Given the description of an element on the screen output the (x, y) to click on. 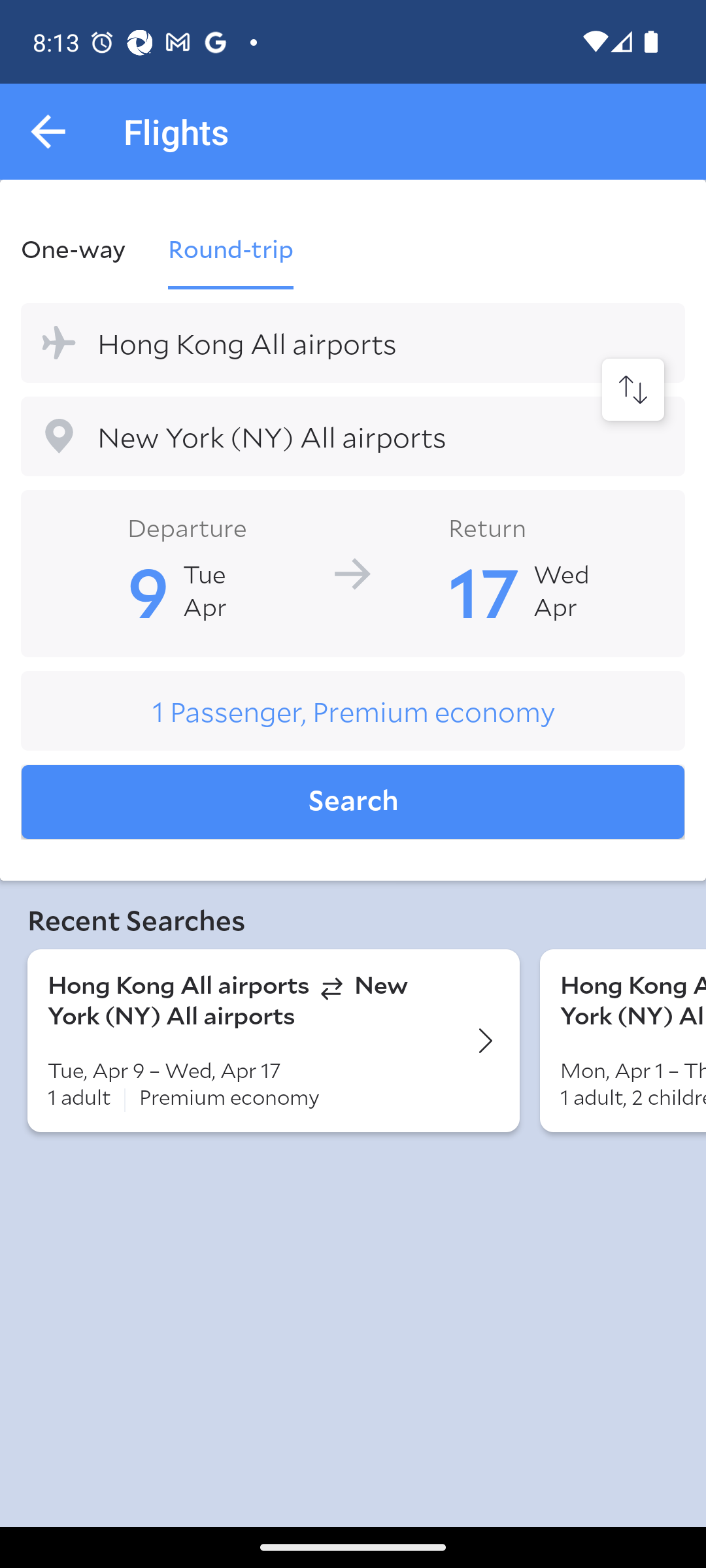
One-way (83, 248)
Hong Kong All airports (352, 342)
New York (NY) All airports (352, 436)
Departure 9 Tue Apr Return 17 Wed Apr (352, 572)
1 Passenger, Premium economy (352, 711)
Search  Search (352, 801)
